Given the description of an element on the screen output the (x, y) to click on. 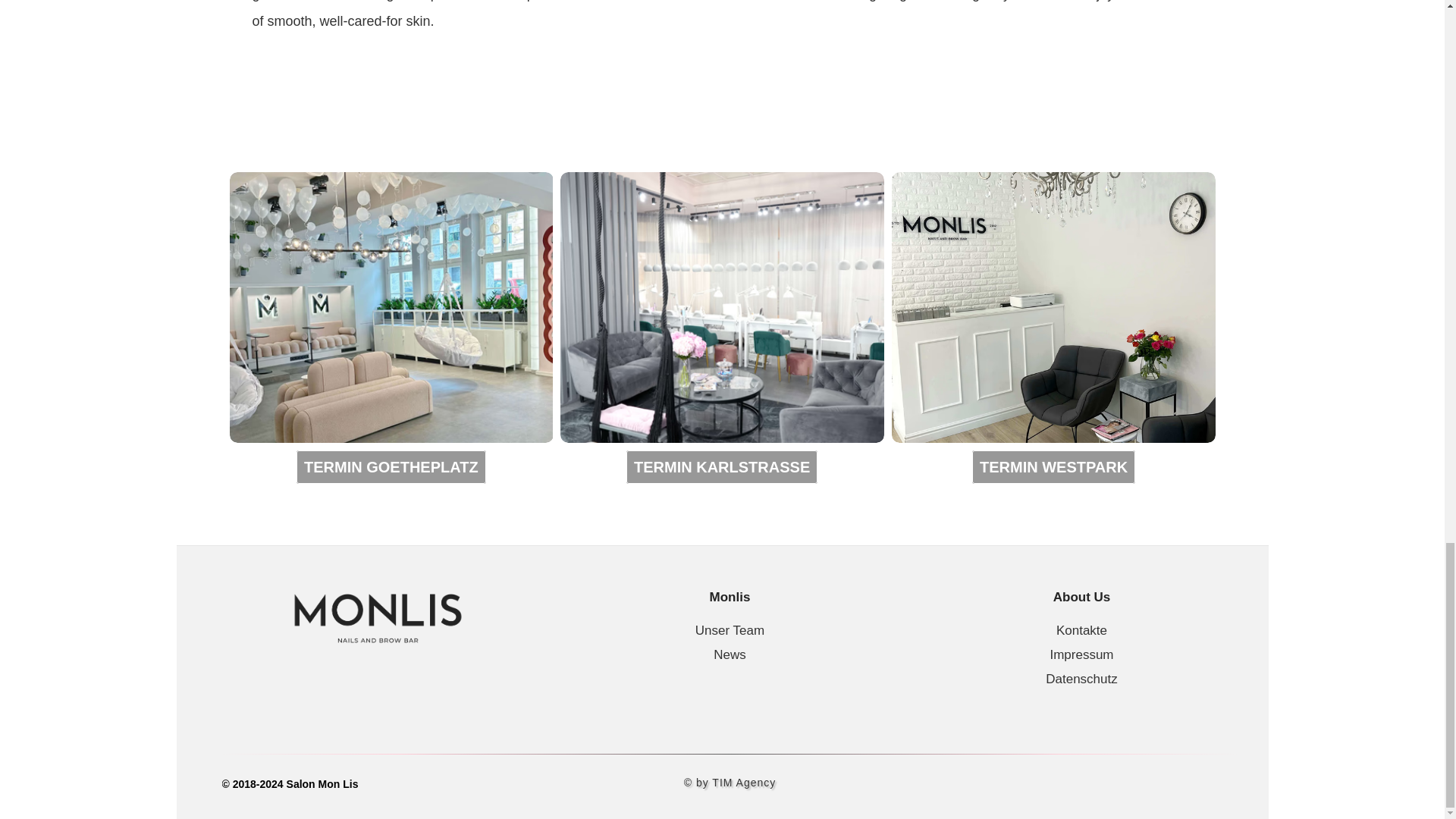
TERMIN GOETHEPLATZ (391, 467)
News (729, 654)
Unser Team (729, 630)
TERMIN WESTPARK (1053, 467)
Datenschutz (1081, 678)
Kontakte (1081, 630)
Impressum (1081, 654)
TERMIN KARLSTRASSE (721, 467)
